Given the description of an element on the screen output the (x, y) to click on. 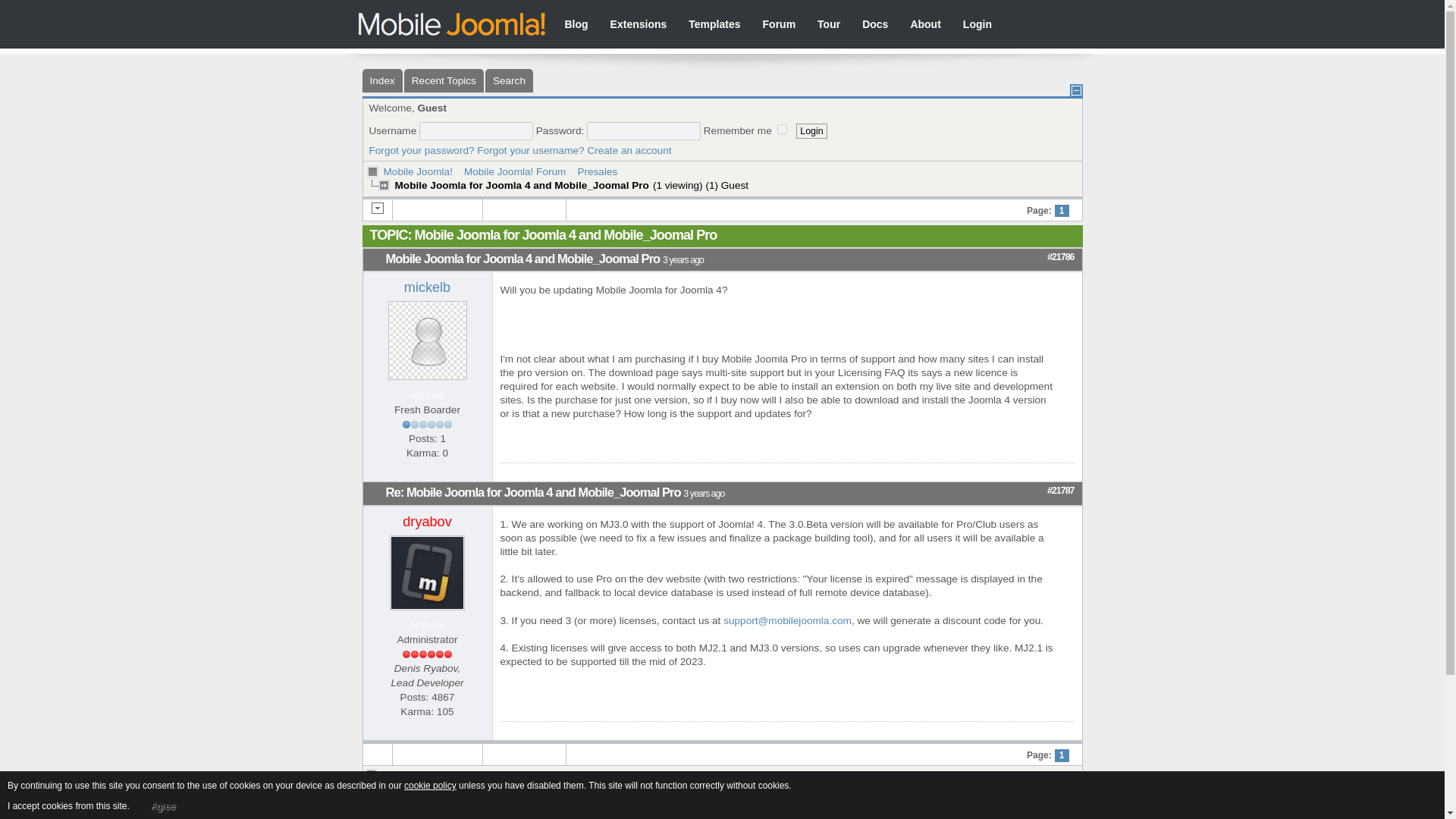
Forgot your username? (530, 150)
Forum (776, 25)
Extensions (635, 25)
Tour (825, 25)
Docs (872, 25)
Mobile Joomla! (460, 24)
dryabov (427, 521)
REPLY (997, 730)
NEW TOPIC (524, 210)
REPLY (997, 472)
